Given the description of an element on the screen output the (x, y) to click on. 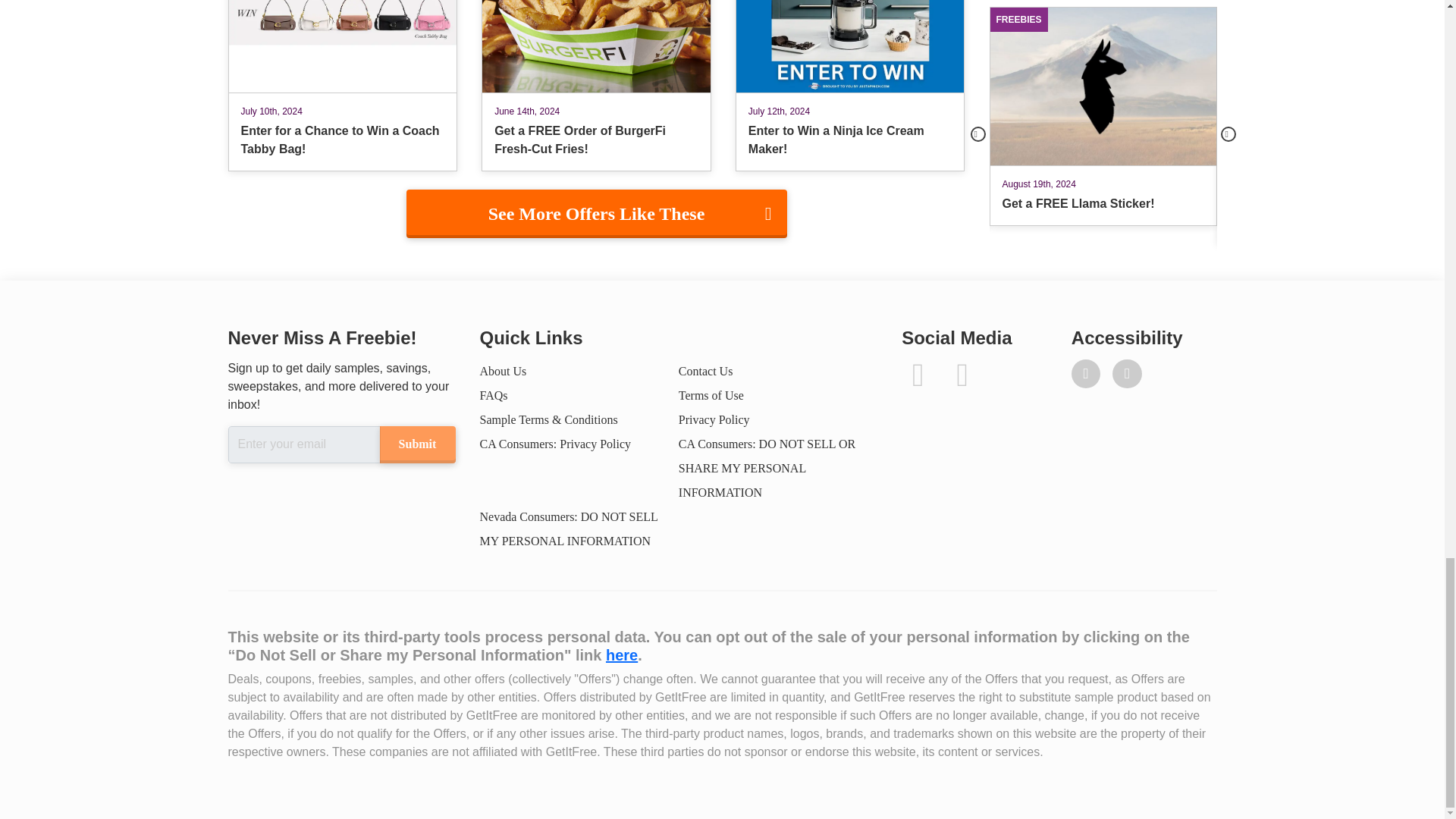
FAQs (492, 395)
Terms of Use (711, 395)
Contact Us (705, 370)
About Us (502, 370)
See More Offers Like These (596, 213)
Submit (416, 444)
